Given the description of an element on the screen output the (x, y) to click on. 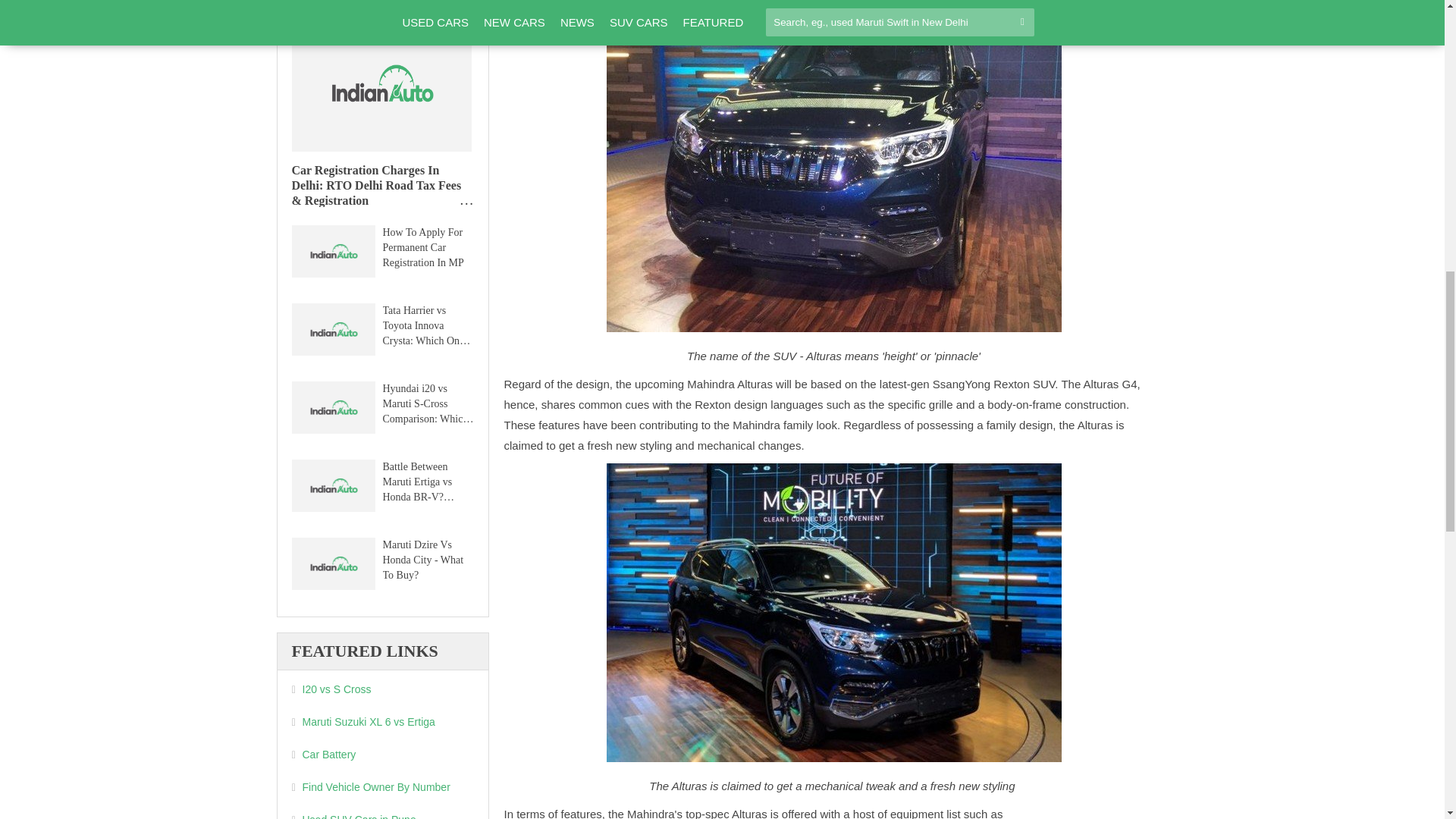
I20 vs S Cross (381, 689)
How To Apply For Permanent Car Registration In MP (424, 247)
Maruti Dzire Vs Honda City - What To Buy? (424, 559)
How To Apply For Permanent Car Registration In MP (332, 253)
Maruti Dzire Vs Honda City - What To Buy? (332, 565)
Maruti Suzuki XL 6 vs Ertiga (381, 722)
Battle Between Maruti Ertiga vs Honda BR-V? Which Wins? (332, 487)
